Given the description of an element on the screen output the (x, y) to click on. 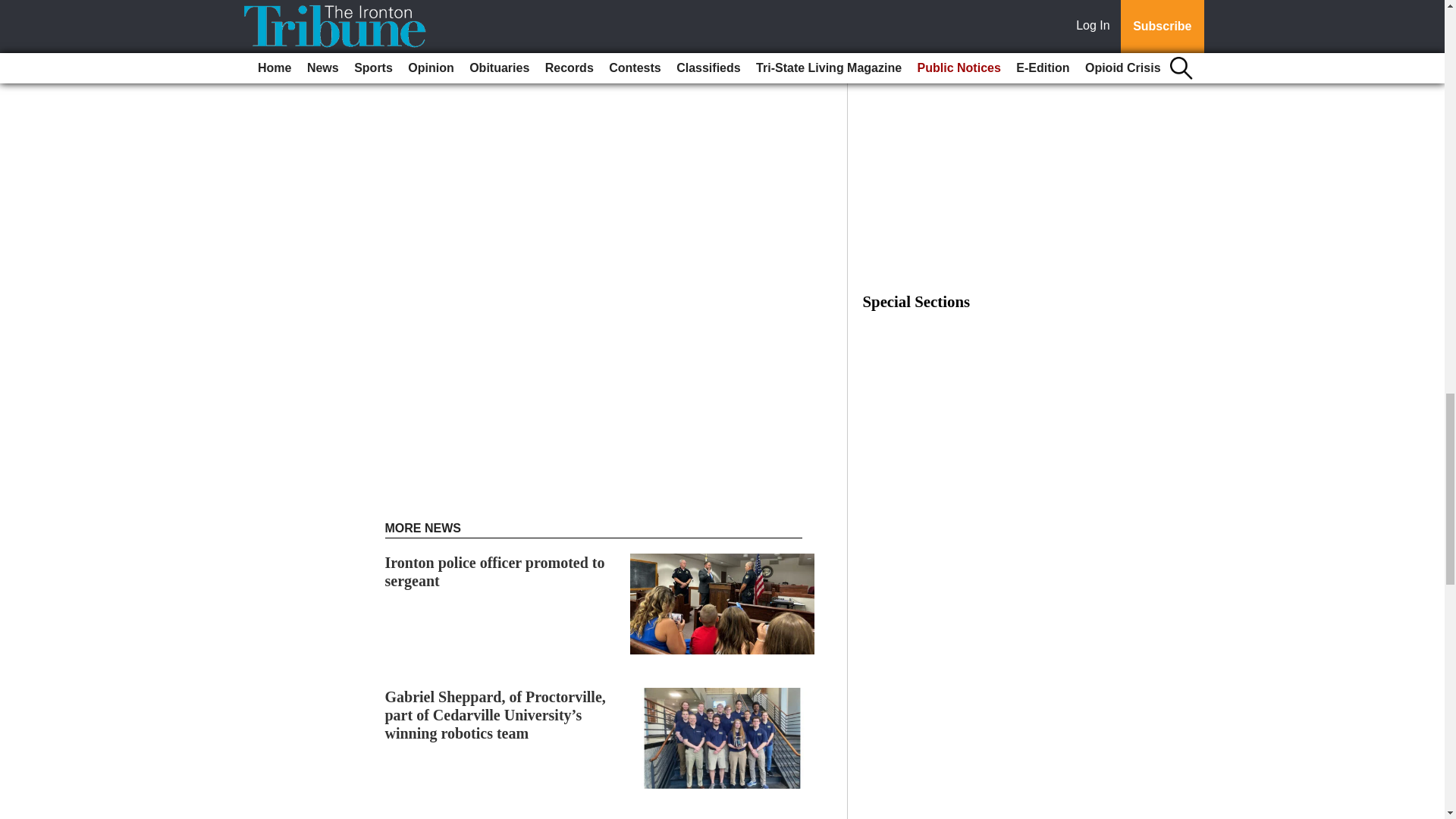
Ironton police officer promoted to sergeant (495, 571)
Ironton police officer promoted to sergeant (495, 571)
